Given the description of an element on the screen output the (x, y) to click on. 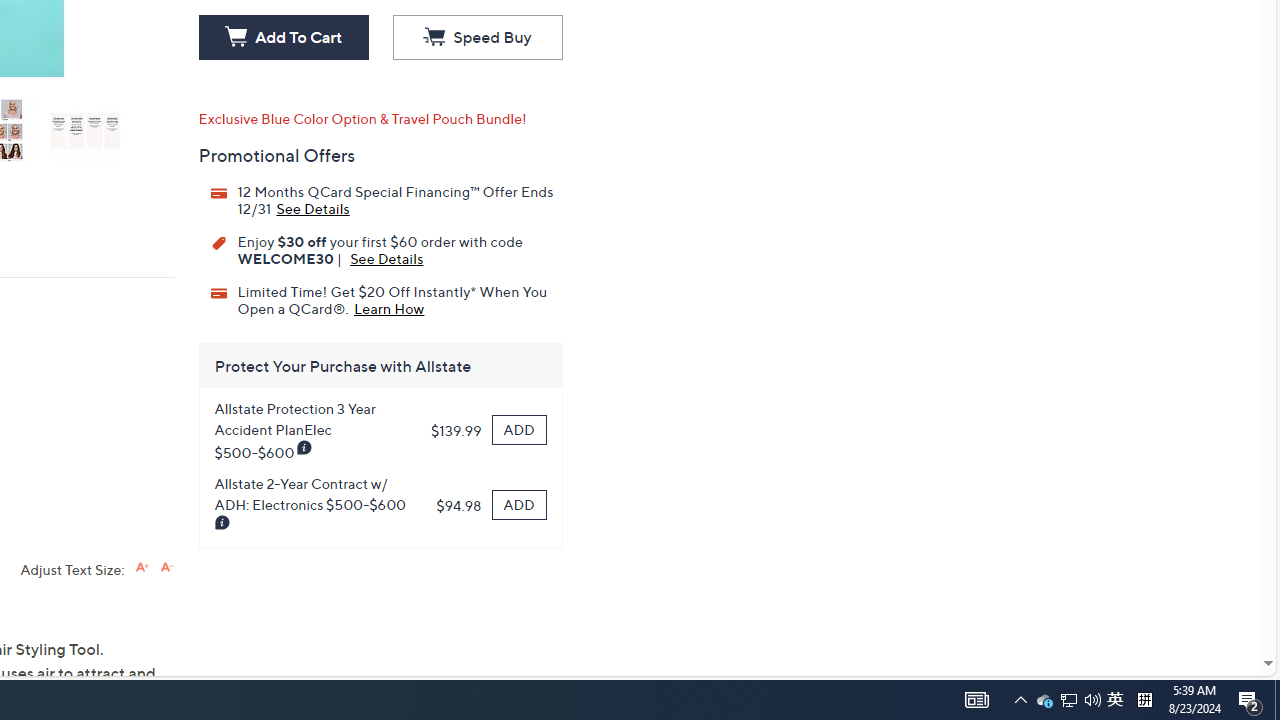
Class: infoIcon fancybox fancybox.ajax (222, 523)
Learn How (389, 307)
